Given the description of an element on the screen output the (x, y) to click on. 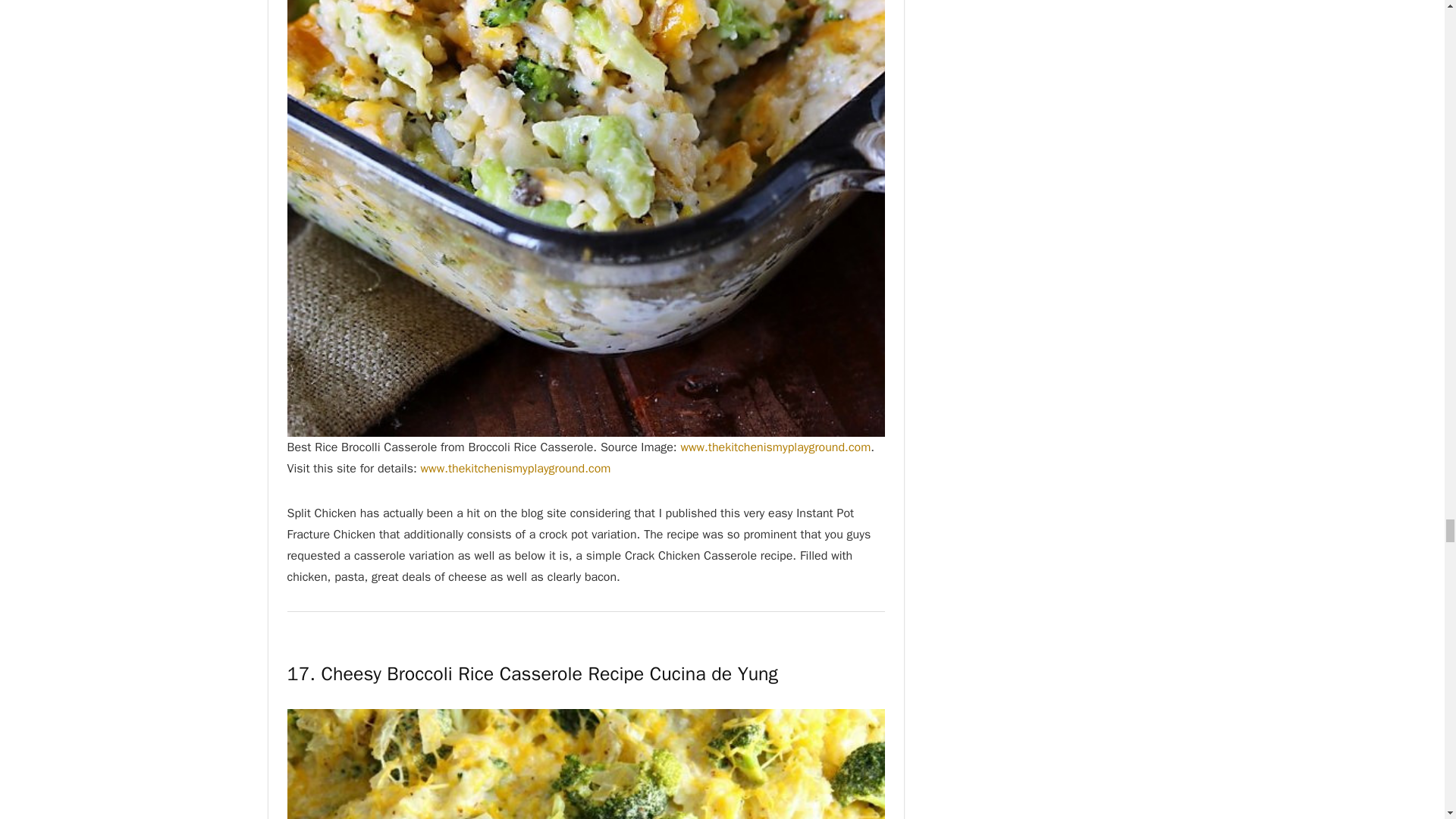
cheesy broccoli rice casserole recipe (584, 764)
